Given the description of an element on the screen output the (x, y) to click on. 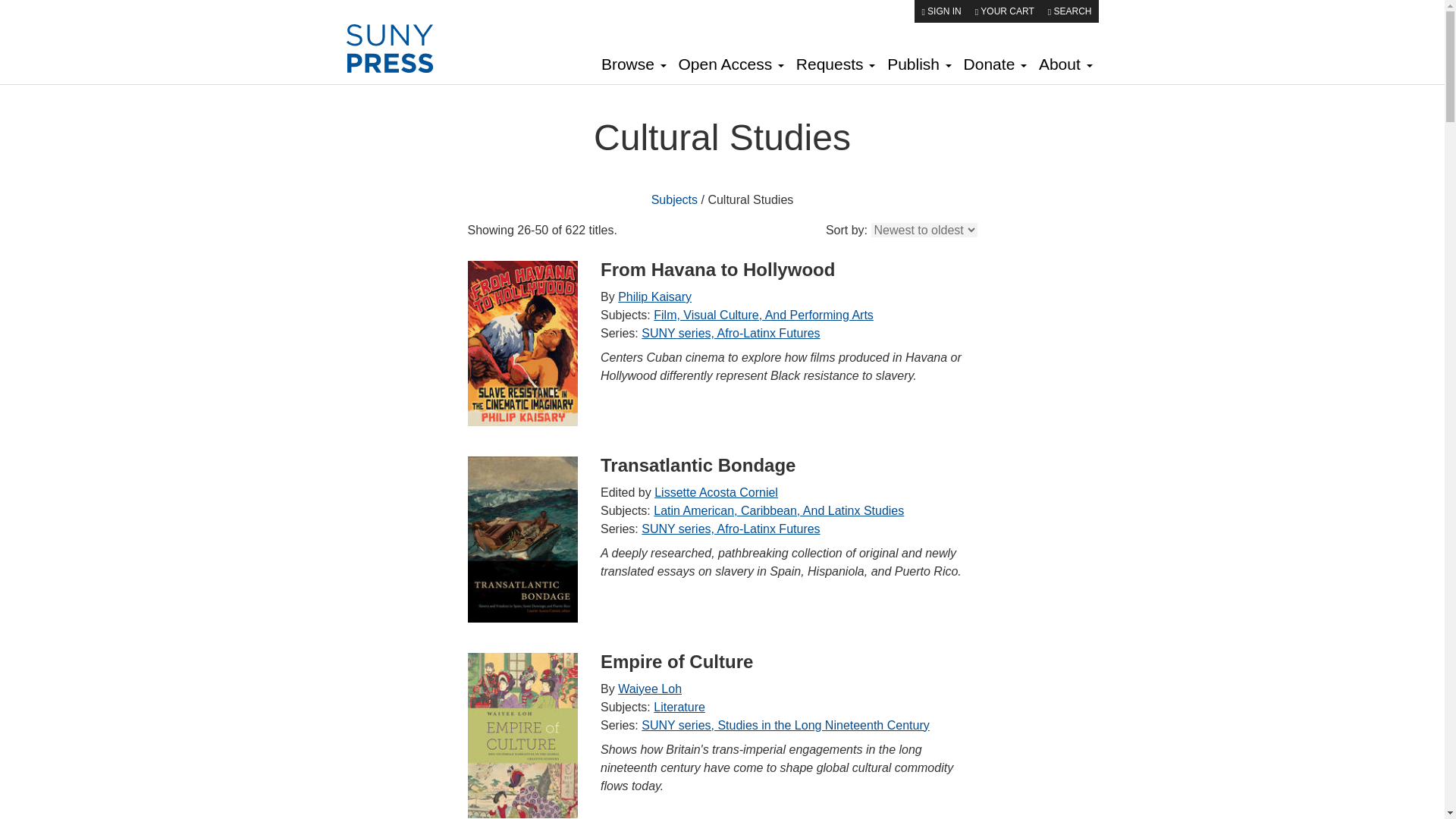
Requests (835, 66)
Publish (918, 66)
SUNY Press (400, 48)
View Empire of Culture (522, 734)
View Transatlantic Bondage (522, 538)
Browse (633, 66)
Open Access (731, 66)
View From Havana to Hollywood (522, 343)
